Given the description of an element on the screen output the (x, y) to click on. 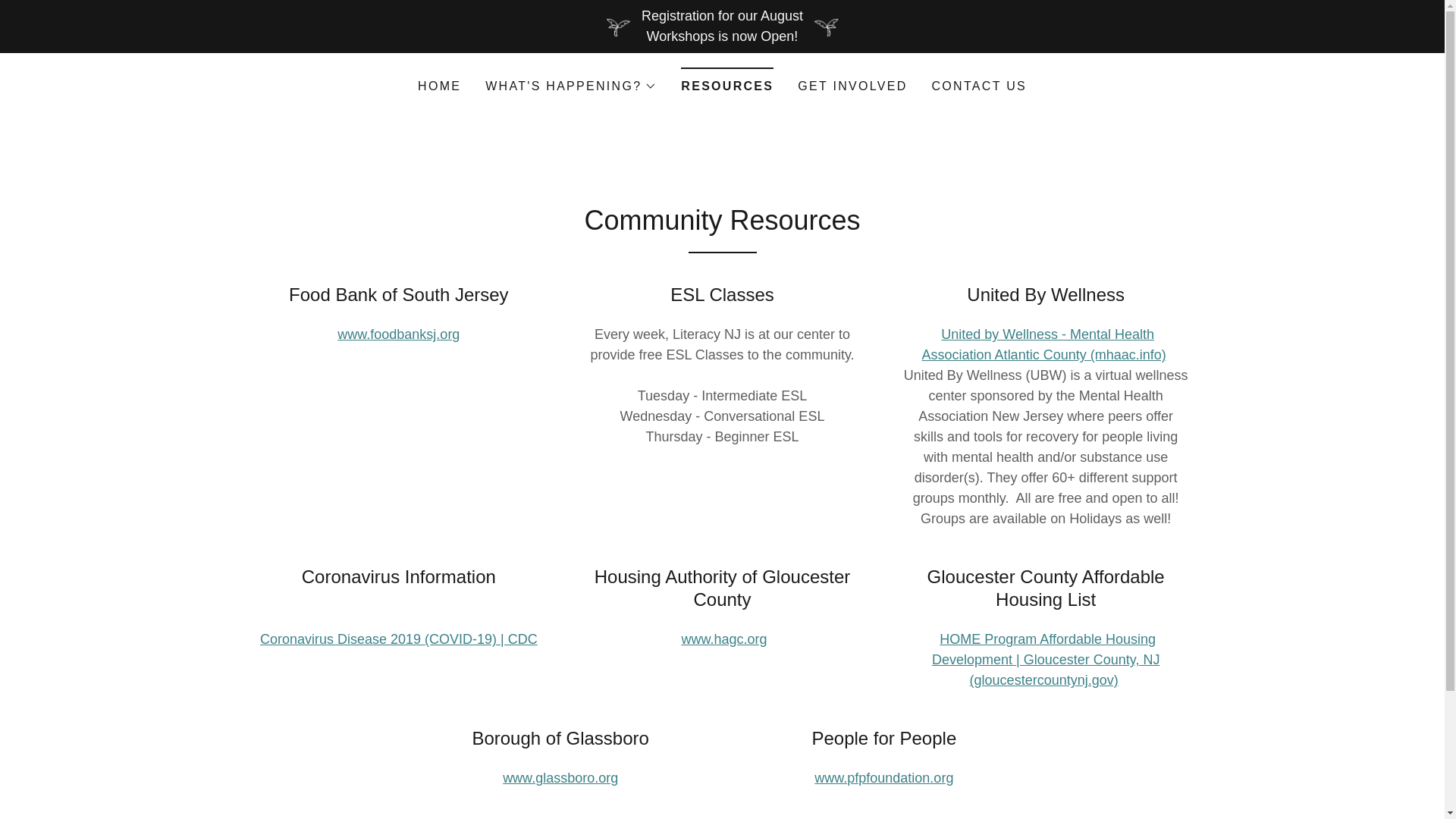
WHAT'S HAPPENING? (570, 85)
www.glassboro.org (559, 777)
www.hagc.org (724, 639)
www.pfpfoundation.org (883, 777)
GET INVOLVED (852, 85)
RESOURCES (727, 81)
CONTACT US (978, 85)
HOME (439, 85)
www.foodbanksj.org (398, 334)
